Given the description of an element on the screen output the (x, y) to click on. 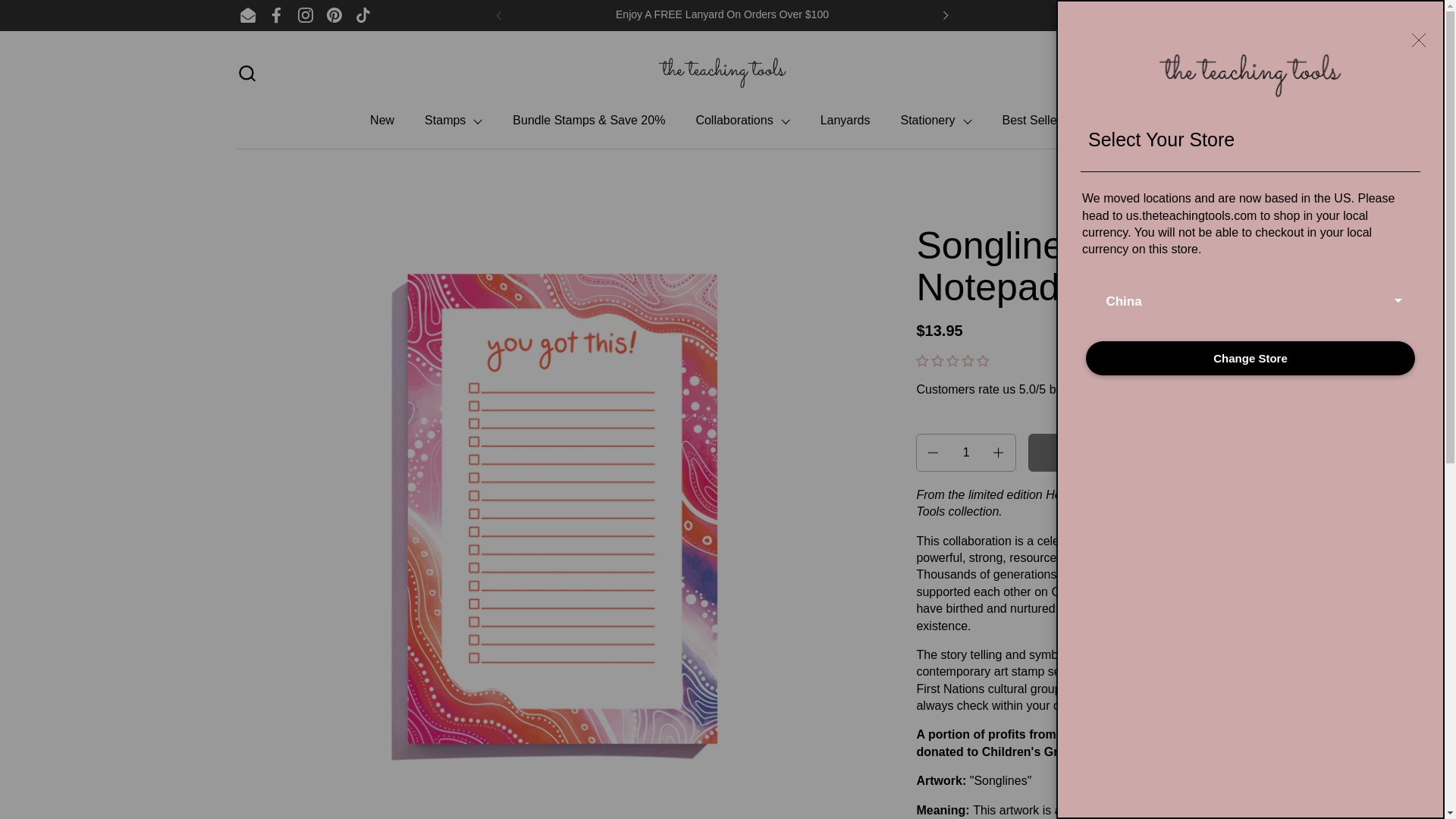
Open cart (1196, 72)
New (382, 120)
The Teaching Tools (722, 72)
Pinterest (334, 14)
Stamps (453, 120)
Facebook (276, 14)
1 (965, 452)
Open search (245, 72)
Email (247, 14)
TikTok (1196, 72)
Instagram (363, 14)
Collaborations (305, 14)
